Given the description of an element on the screen output the (x, y) to click on. 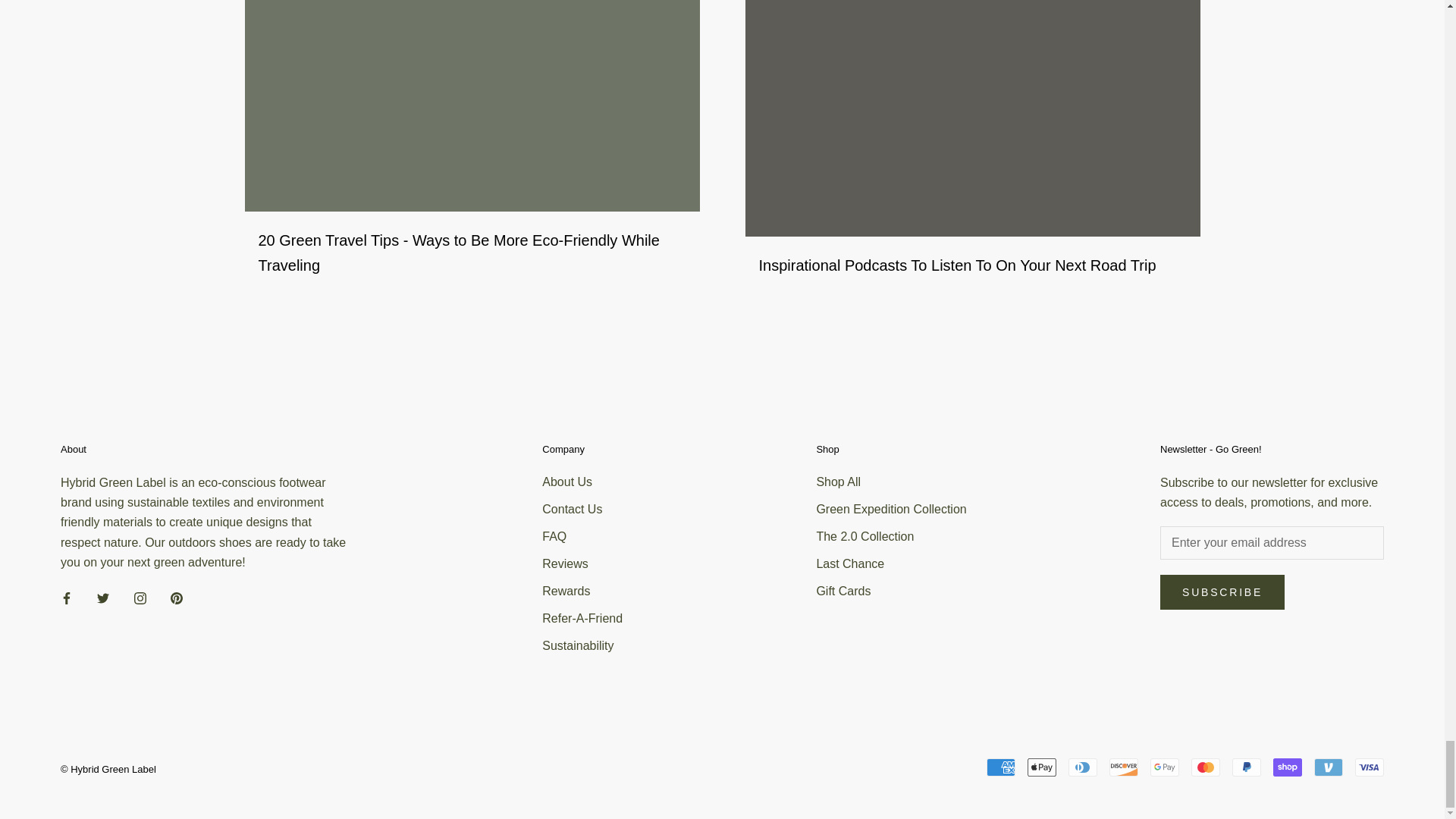
Mastercard (1205, 767)
American Express (1000, 767)
Shop Pay (1286, 767)
Google Pay (1164, 767)
Diners Club (1082, 767)
PayPal (1245, 767)
Visa (1369, 767)
Venmo (1328, 767)
Apple Pay (1042, 767)
Discover (1123, 767)
